Given the description of an element on the screen output the (x, y) to click on. 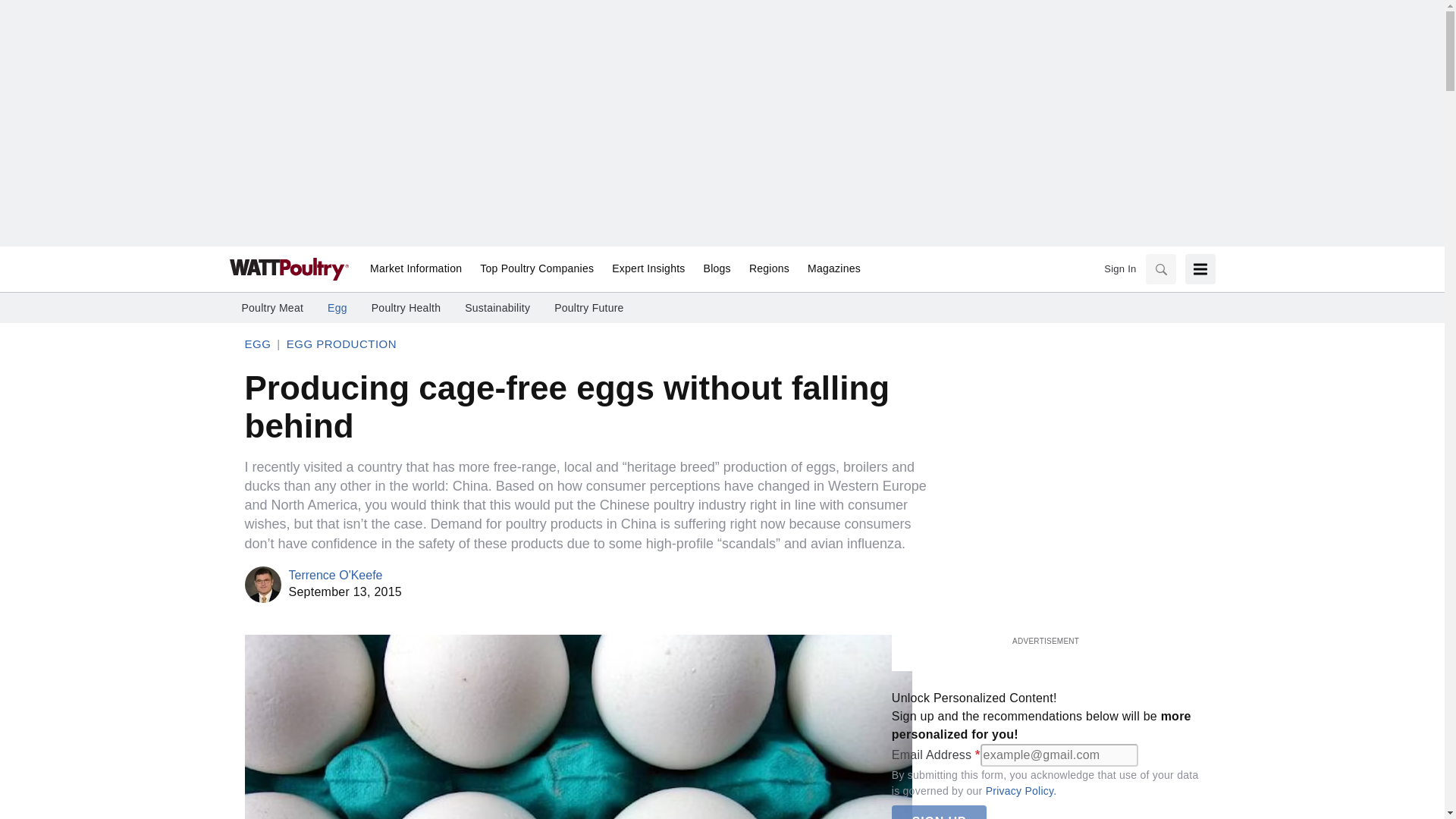
Magazines (828, 269)
Sign In (1119, 268)
Poultry Meat (271, 307)
Blogs (716, 269)
Top Poultry Companies (536, 269)
Poultry Future (588, 307)
Expert Insights (648, 269)
Egg (257, 343)
Regions (768, 269)
Poultry Health (406, 307)
Sustainability (496, 307)
Egg (337, 307)
Egg Production (341, 343)
Market Information (415, 269)
